Given the description of an element on the screen output the (x, y) to click on. 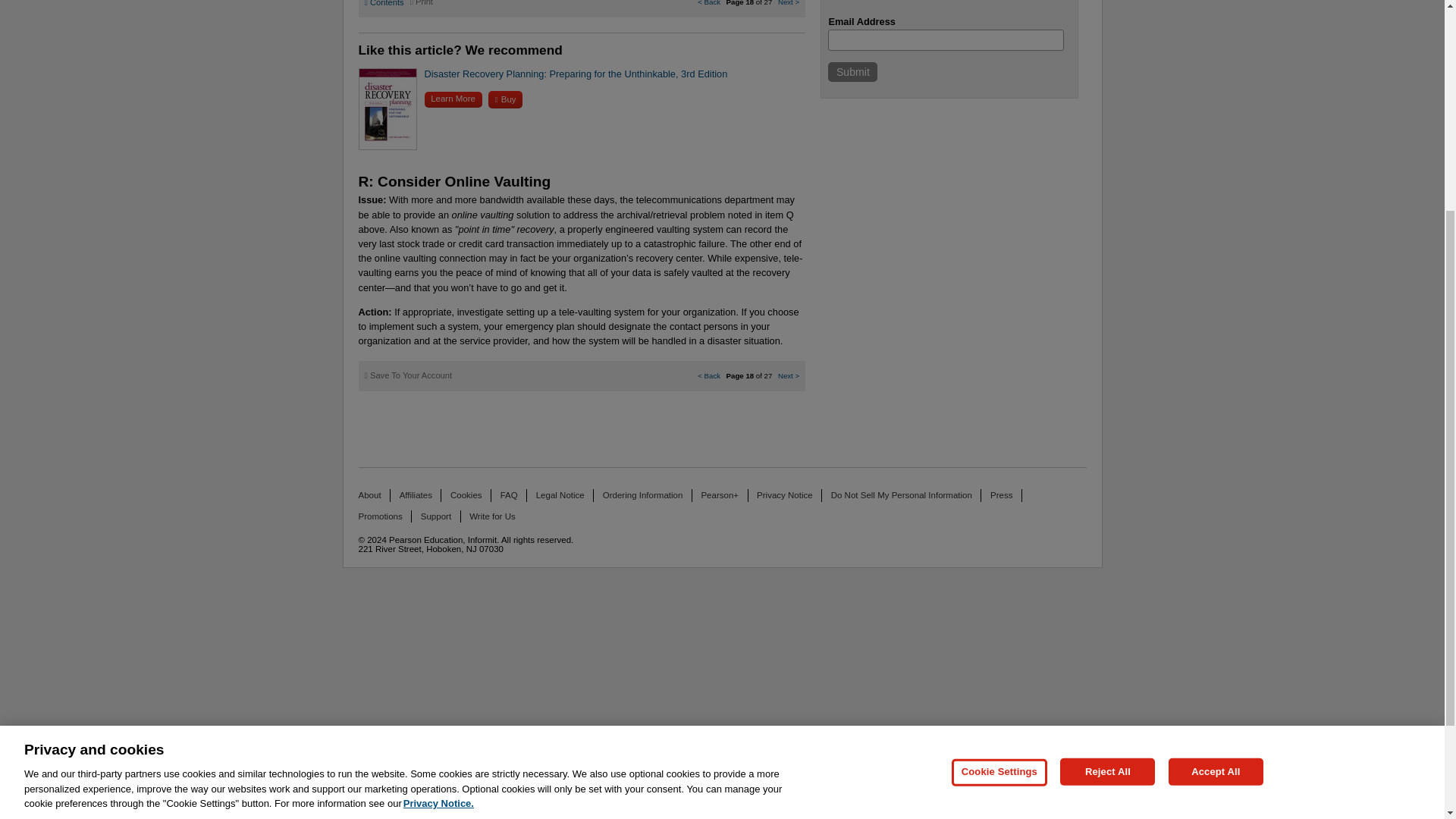
Learn More (453, 99)
Submit (852, 71)
Print (421, 2)
